Given the description of an element on the screen output the (x, y) to click on. 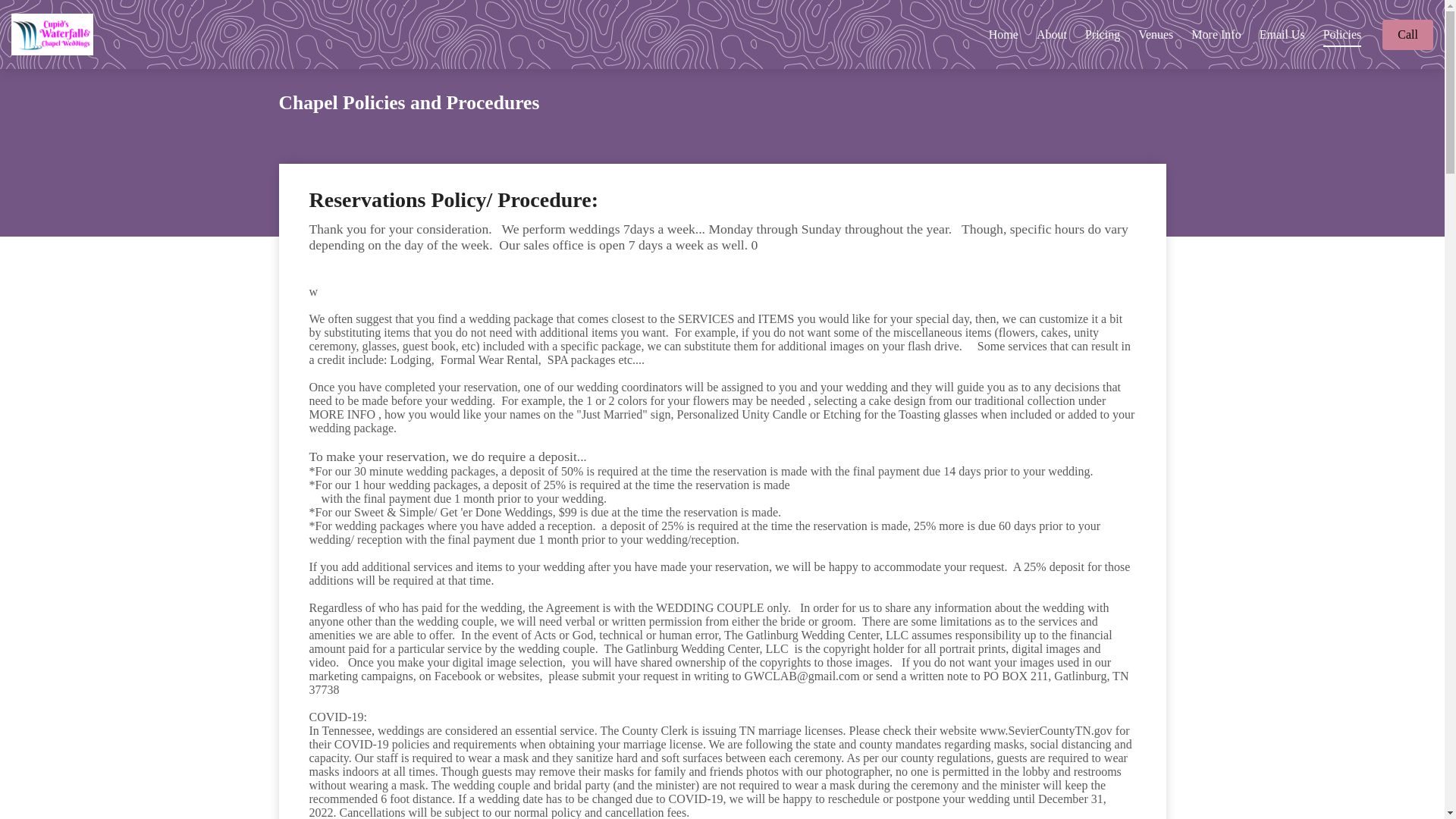
Pricing (1101, 33)
Home (1002, 33)
Call (1406, 34)
Email Us (1281, 33)
Venues (1155, 33)
Policies (1342, 33)
More Info (1215, 33)
About (1051, 33)
